Given the description of an element on the screen output the (x, y) to click on. 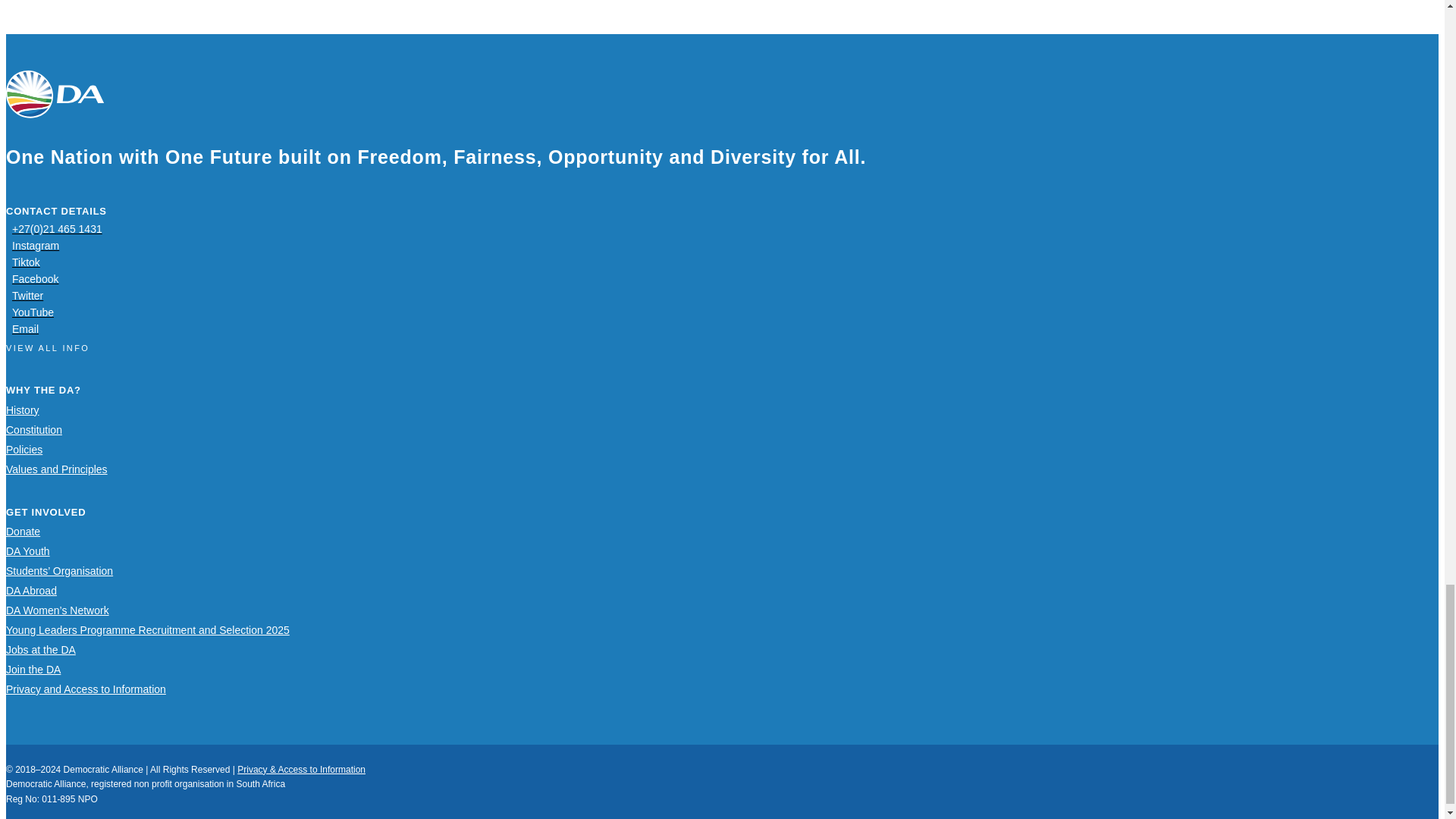
Democratic Alliance Logo (54, 93)
